Given the description of an element on the screen output the (x, y) to click on. 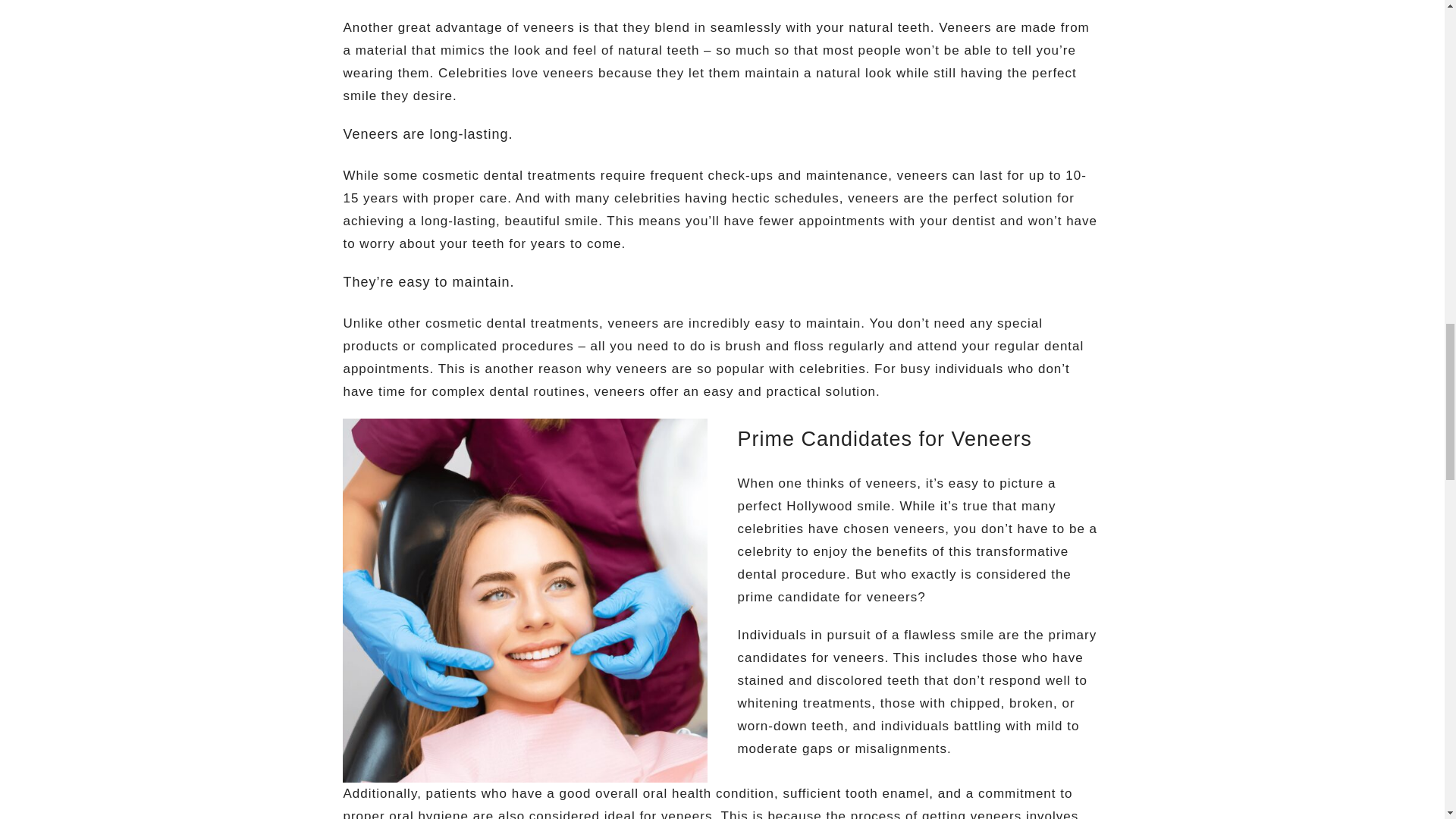
young woman smiling with veneers (524, 600)
